Given the description of an element on the screen output the (x, y) to click on. 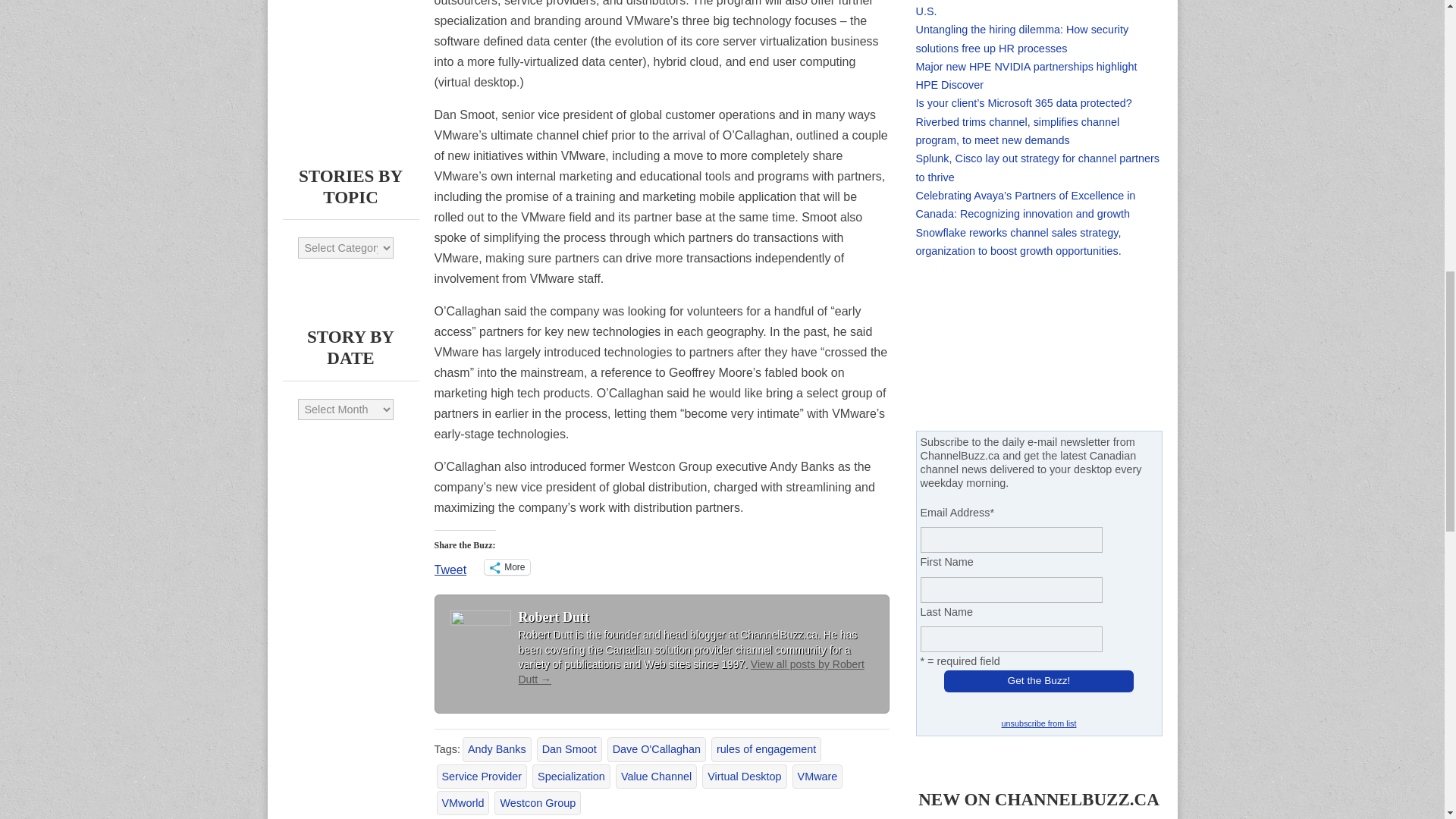
Get the Buzz! (1038, 680)
